Given the description of an element on the screen output the (x, y) to click on. 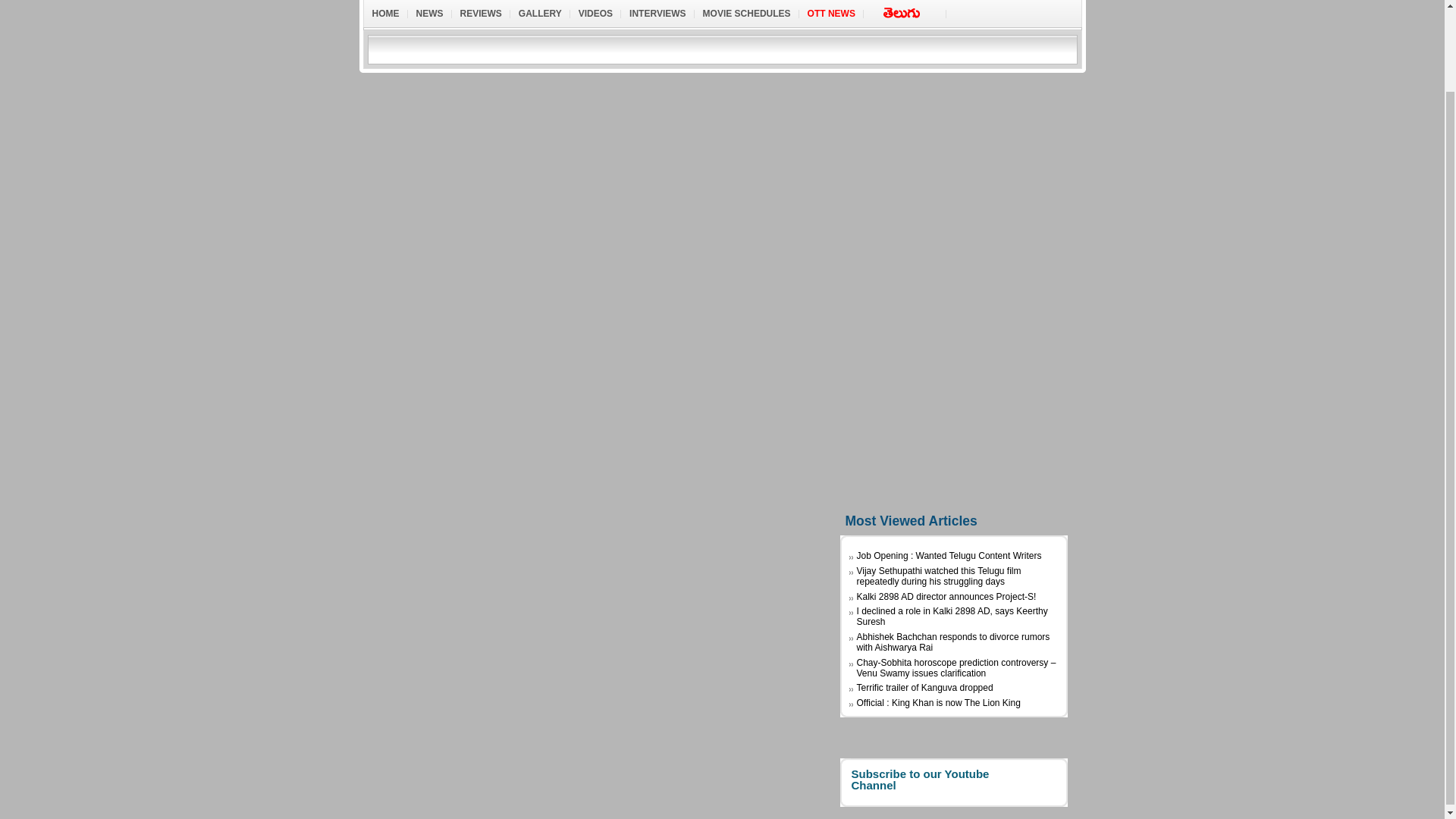
VIDEOS (595, 13)
OTT NEWS (831, 13)
GALLERY (540, 13)
Terrific trailer of Kanguva dropped (924, 687)
Kalki 2898 AD director announces Project-S! (946, 596)
NEWS (429, 13)
REVIEWS (481, 13)
INTERVIEWS (657, 13)
